Given the description of an element on the screen output the (x, y) to click on. 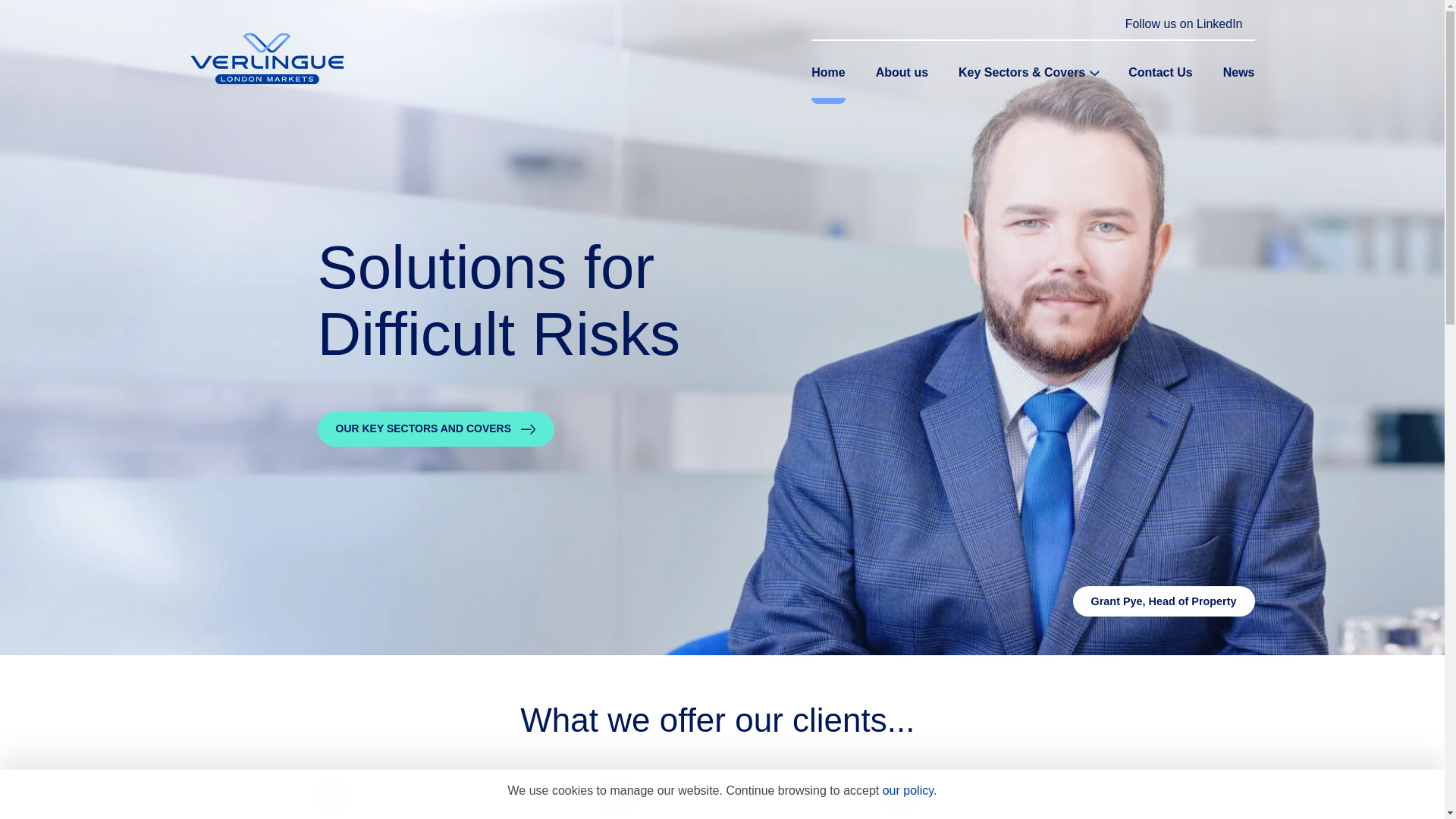
Contact Us (1160, 72)
Follow us on LinkedIn (1184, 24)
News (1239, 72)
Home (827, 72)
News (1239, 72)
OUR KEY SECTORS AND COVERS (435, 428)
Follow us on LinkedIn (1184, 24)
Contact Us (1160, 72)
About us (902, 72)
Home (827, 72)
